Given the description of an element on the screen output the (x, y) to click on. 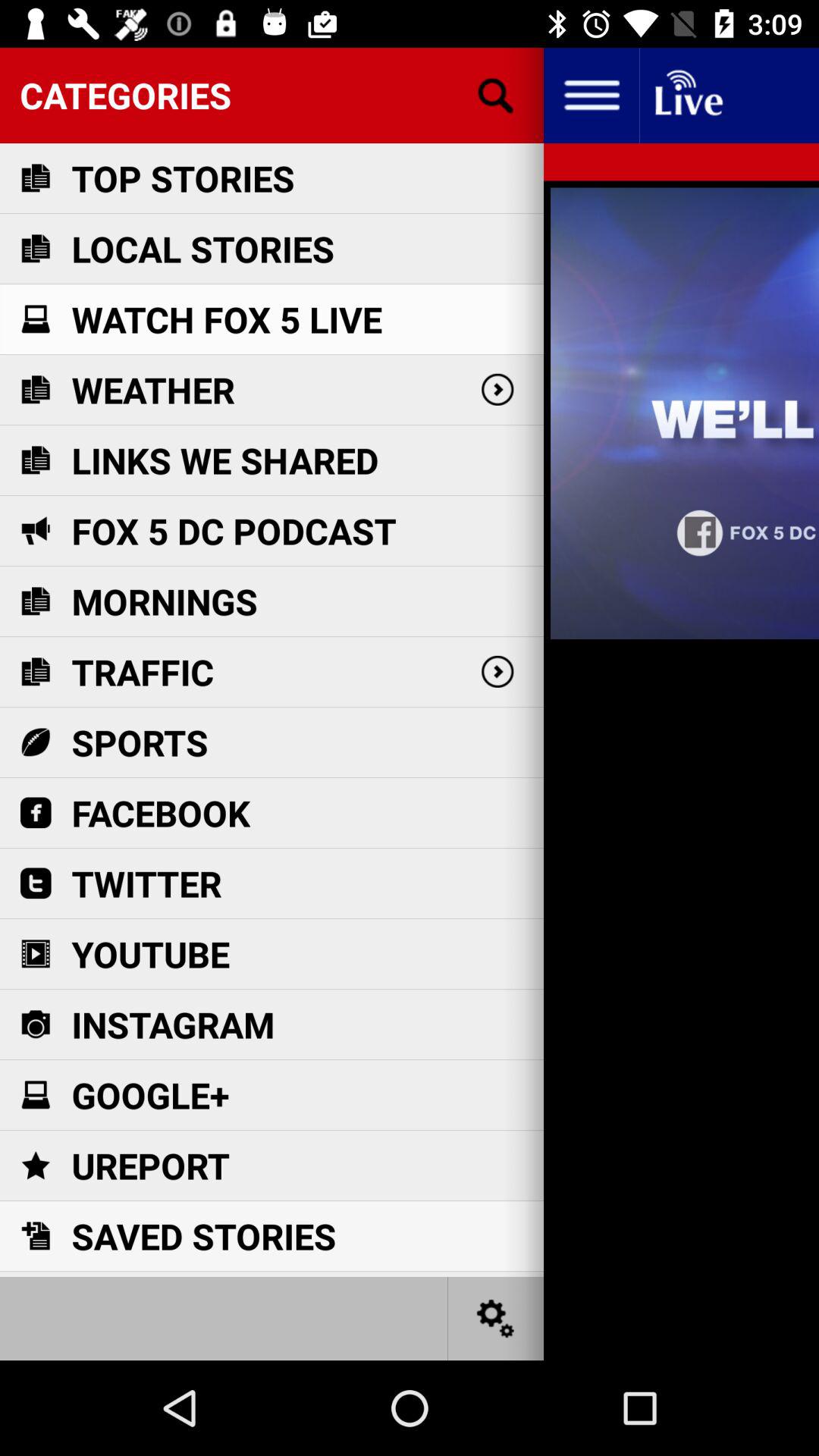
go to live (687, 95)
